Given the description of an element on the screen output the (x, y) to click on. 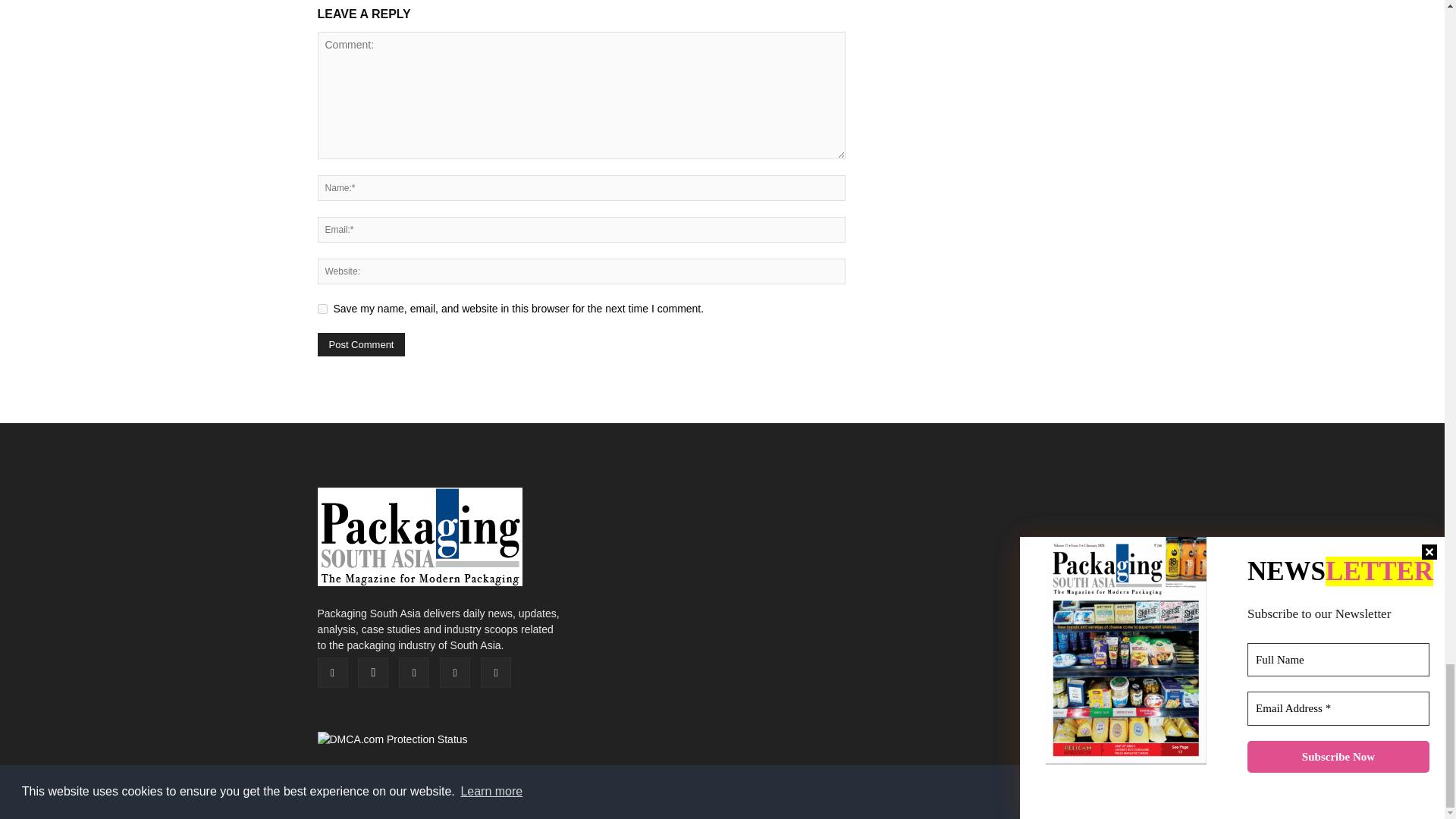
Post Comment (360, 344)
yes (321, 308)
